Given the description of an element on the screen output the (x, y) to click on. 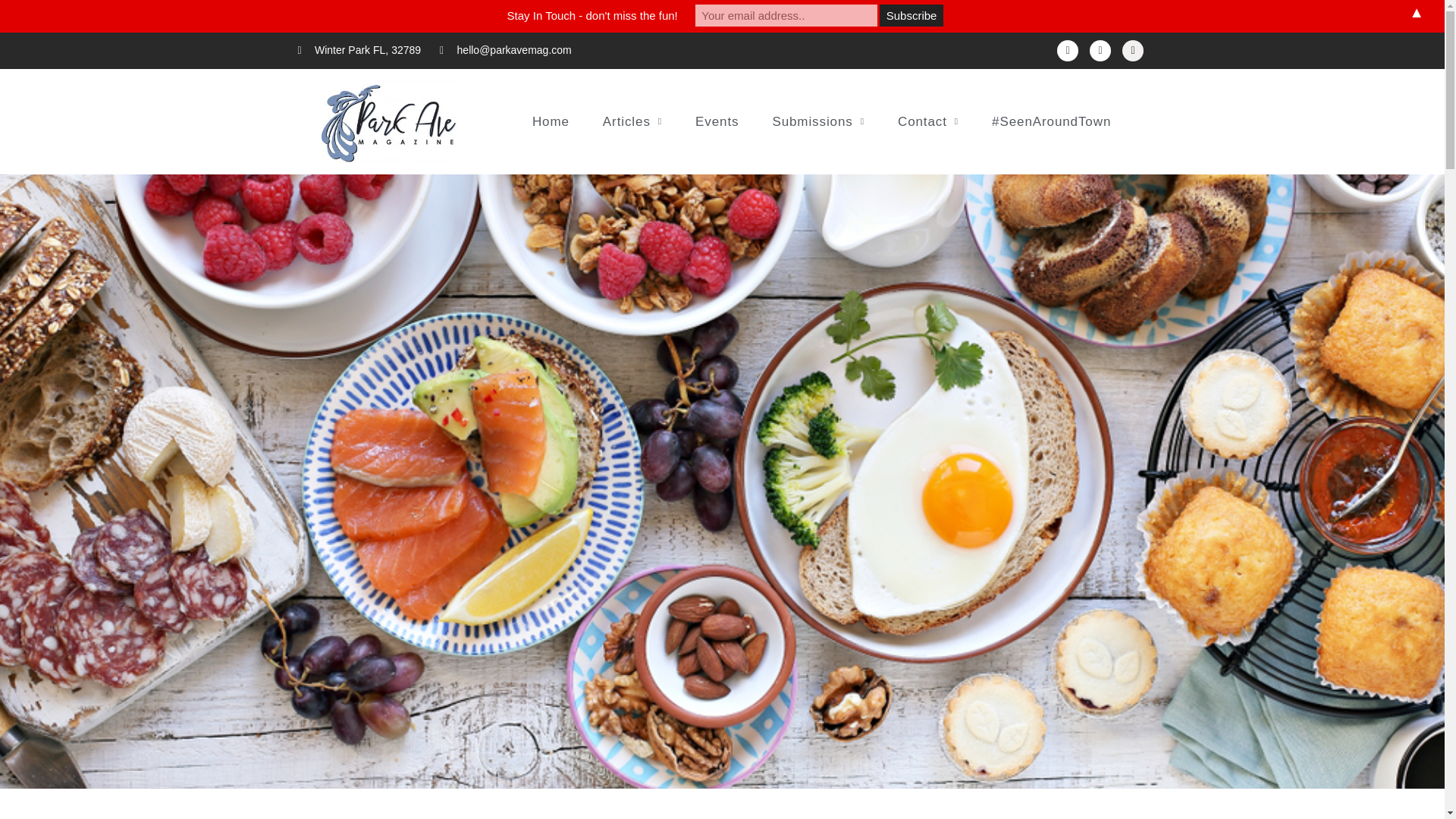
Untitled (389, 121)
Submissions (817, 121)
Contact (927, 121)
Subscribe (911, 15)
Events (717, 121)
Articles (632, 121)
Home (550, 121)
